Given the description of an element on the screen output the (x, y) to click on. 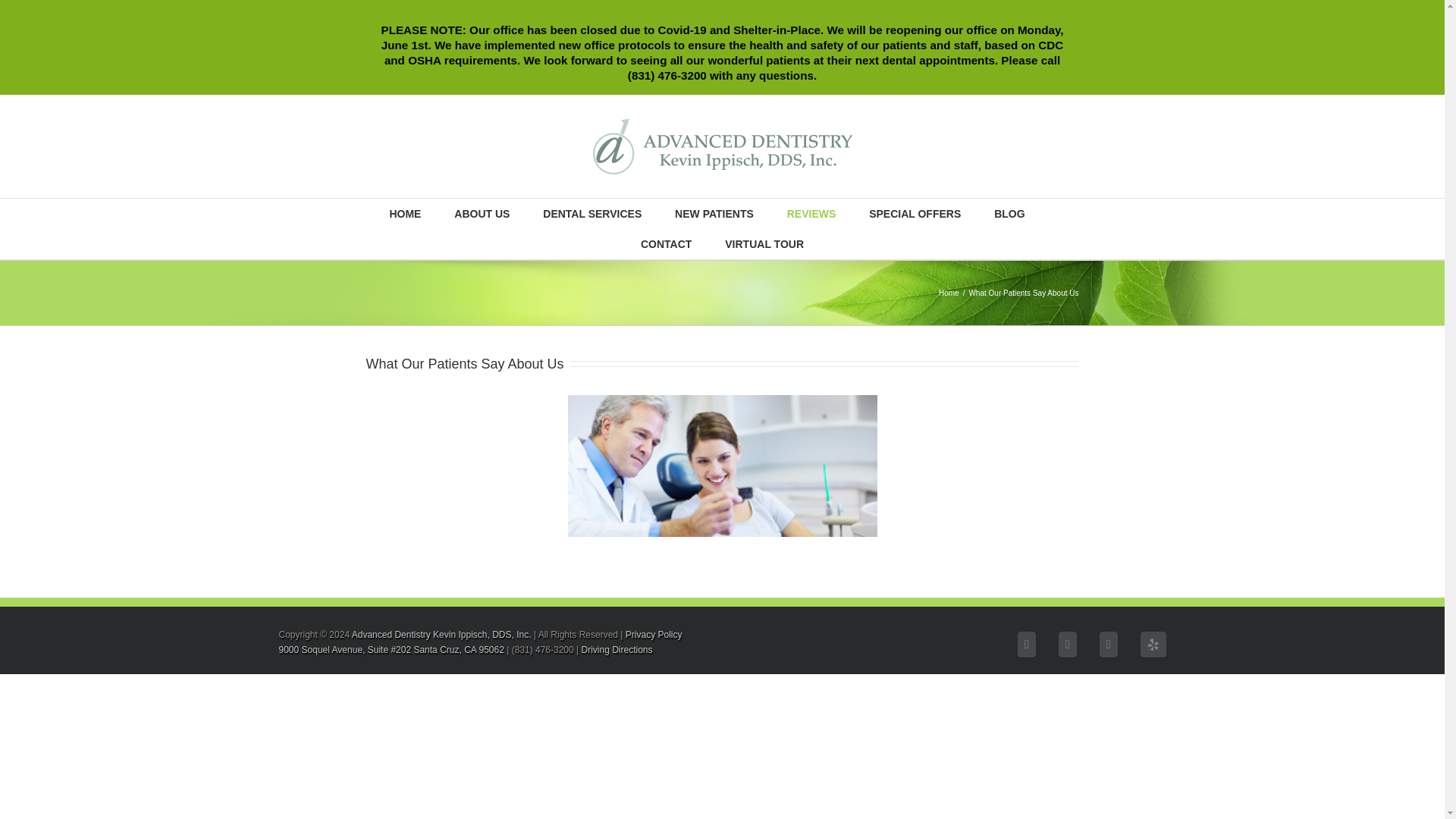
ABOUT US (481, 214)
CONTACT (665, 244)
Home (950, 293)
HOME (404, 214)
DENTAL SERVICES (592, 214)
NEW PATIENTS (714, 214)
REVIEWS (811, 214)
VIRTUAL TOUR (764, 244)
BLOG (1009, 214)
Advanced Dentistry Kevin Ippisch, DDS, Inc. (441, 634)
SPECIAL OFFERS (914, 214)
